Given the description of an element on the screen output the (x, y) to click on. 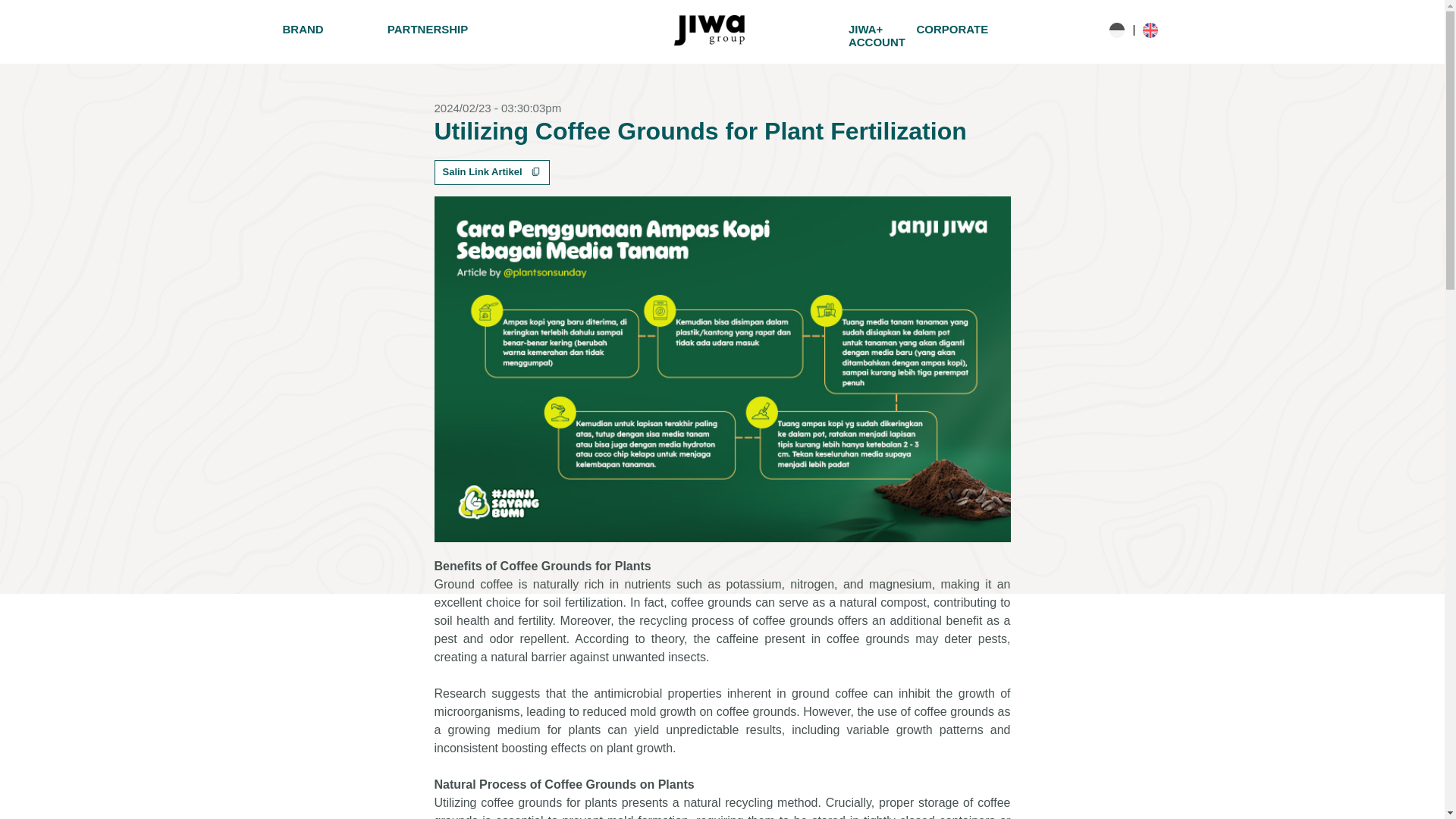
CORPORATE (952, 29)
Salin Link Artikel (490, 172)
ACCOUNT (876, 41)
BRAND (301, 29)
PARTNERSHIP (427, 29)
